Given the description of an element on the screen output the (x, y) to click on. 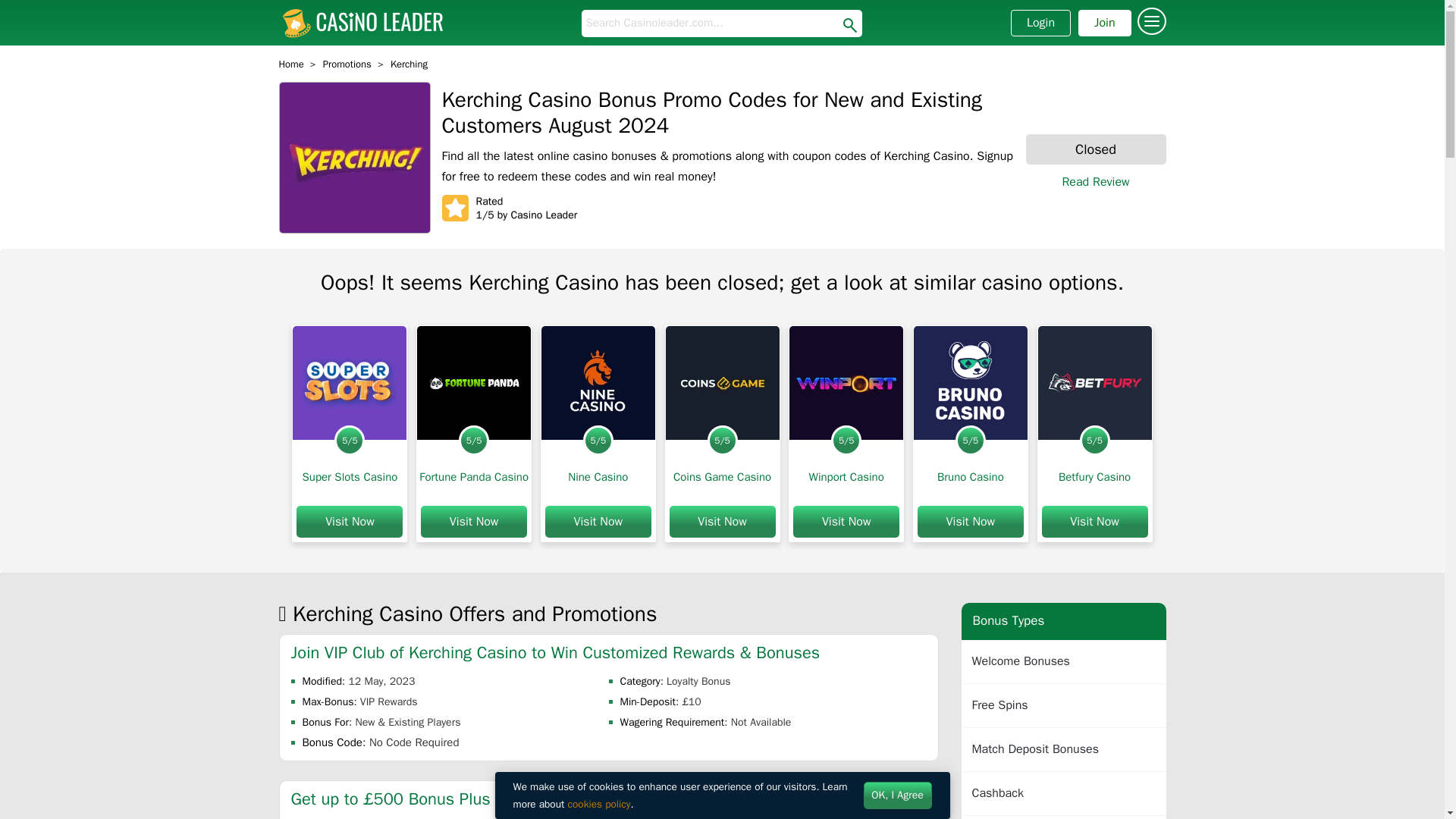
Betfury Casino (1094, 477)
Bruno Casino (970, 382)
Join (1104, 22)
Visit Now (597, 521)
Kerching Casino (354, 157)
Coins Game Casino (721, 477)
Nine Casino (597, 477)
Home (291, 63)
Winport Casino (846, 477)
Visit Now (970, 521)
